Given the description of an element on the screen output the (x, y) to click on. 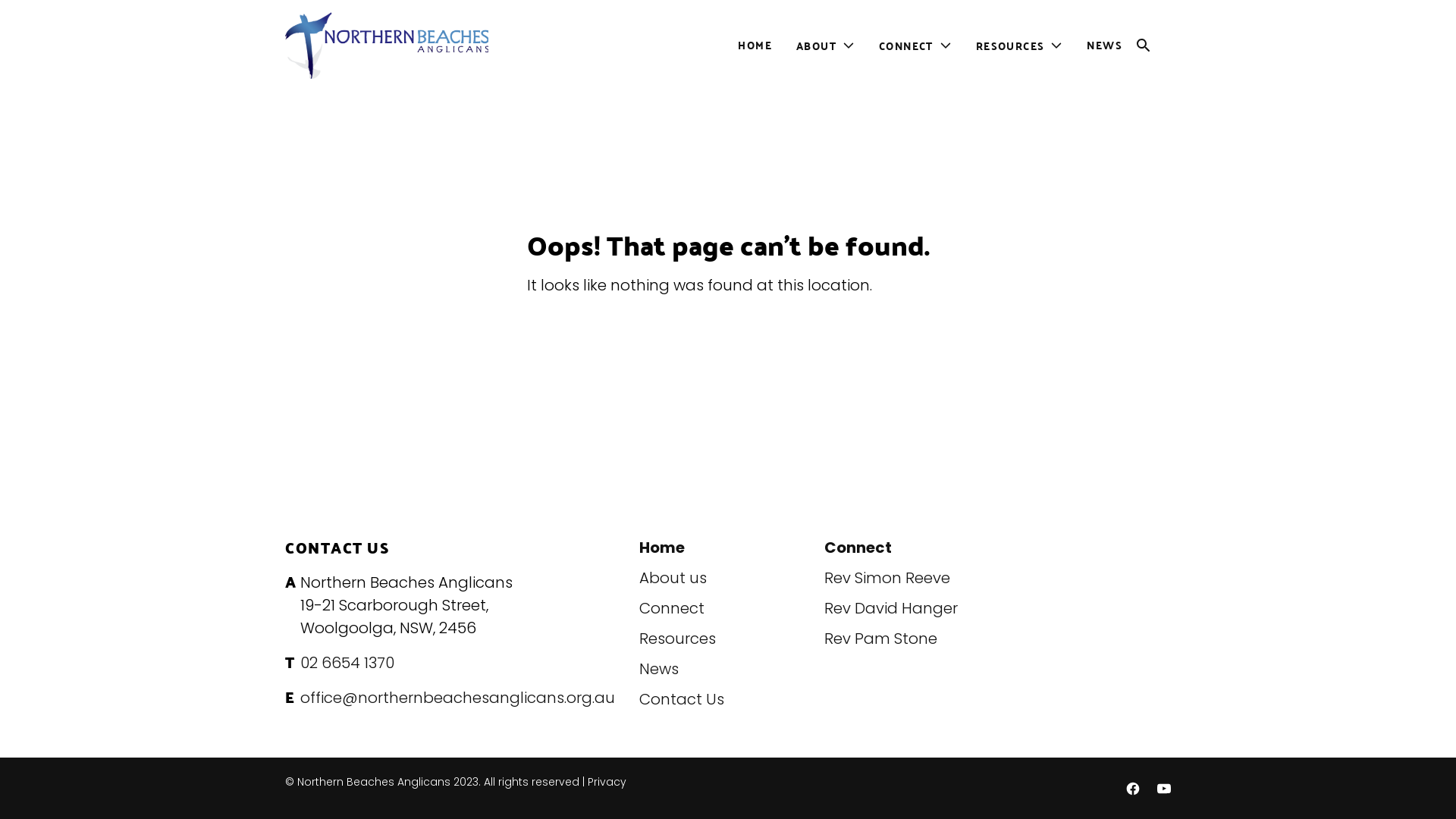
02 6654 1370 Element type: text (347, 662)
office@northernbeachesanglicans.org.au Element type: text (457, 697)
NEWS Element type: text (1104, 45)
OPEN SEARCH Element type: text (1152, 45)
Toggle sub-menu Element type: text (951, 45)
RESOURCES Element type: text (1007, 45)
Rev Simon Reeve Element type: text (887, 577)
Rev David Hanger Element type: text (890, 607)
Rev Pam Stone Element type: text (880, 638)
Connect Element type: text (857, 547)
Facebook Element type: text (1132, 788)
Home Element type: text (661, 547)
ABOUT Element type: text (813, 45)
Toggle sub-menu Element type: text (1062, 45)
CONNECT Element type: text (902, 45)
News Element type: text (658, 668)
Privacy Element type: text (606, 781)
Youtube Element type: text (1162, 788)
Contact Us Element type: text (681, 698)
About us Element type: text (672, 577)
Toggle sub-menu Element type: text (854, 45)
Connect Element type: text (671, 607)
HOME Element type: text (754, 45)
Resources Element type: text (677, 638)
